Given the description of an element on the screen output the (x, y) to click on. 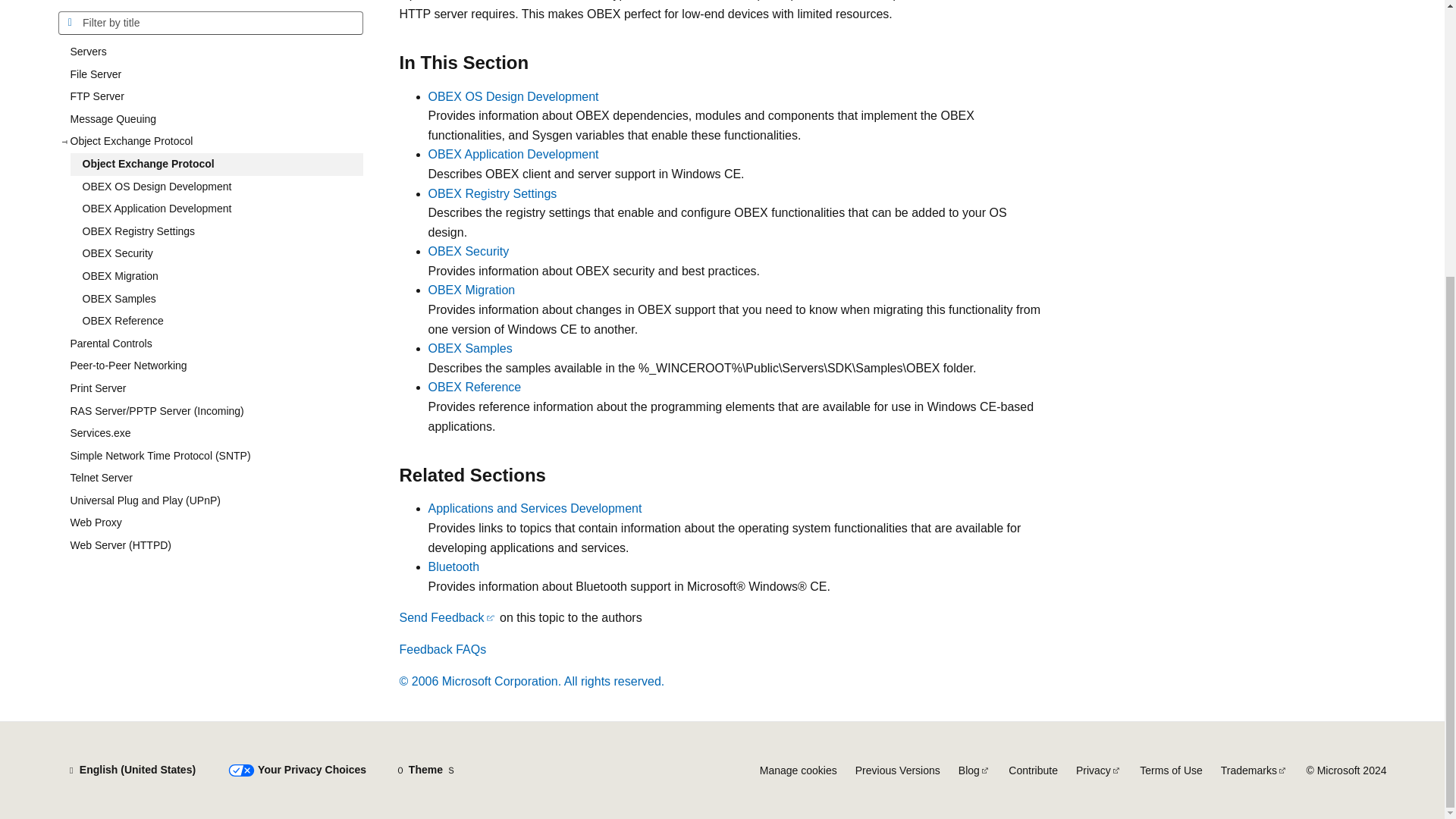
OBEX Migration (215, 12)
Theme (425, 770)
